Given the description of an element on the screen output the (x, y) to click on. 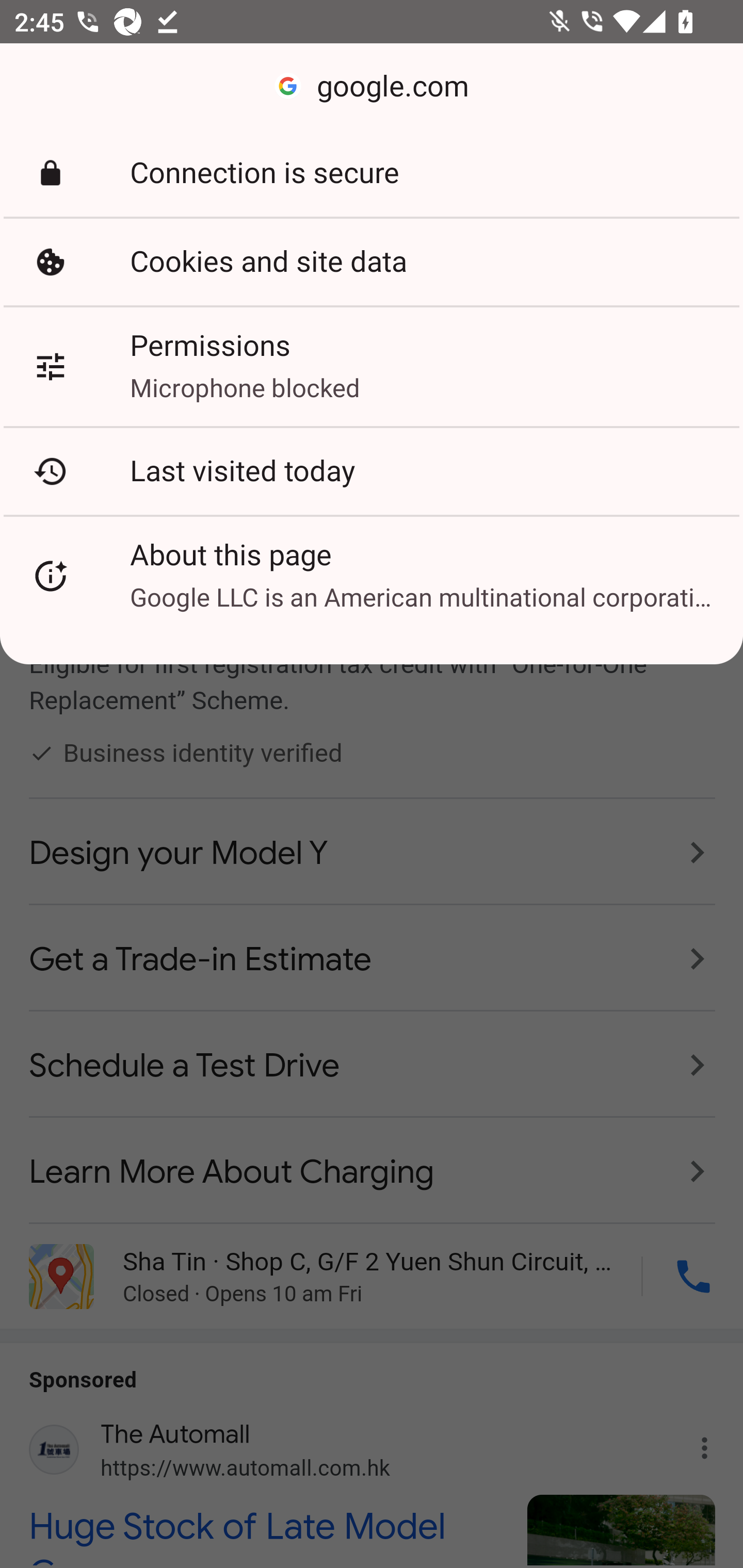
google.com (371, 86)
Connection is secure (371, 173)
Cookies and site data (371, 261)
Permissions Microphone blocked (371, 366)
Last visited today (371, 471)
